Given the description of an element on the screen output the (x, y) to click on. 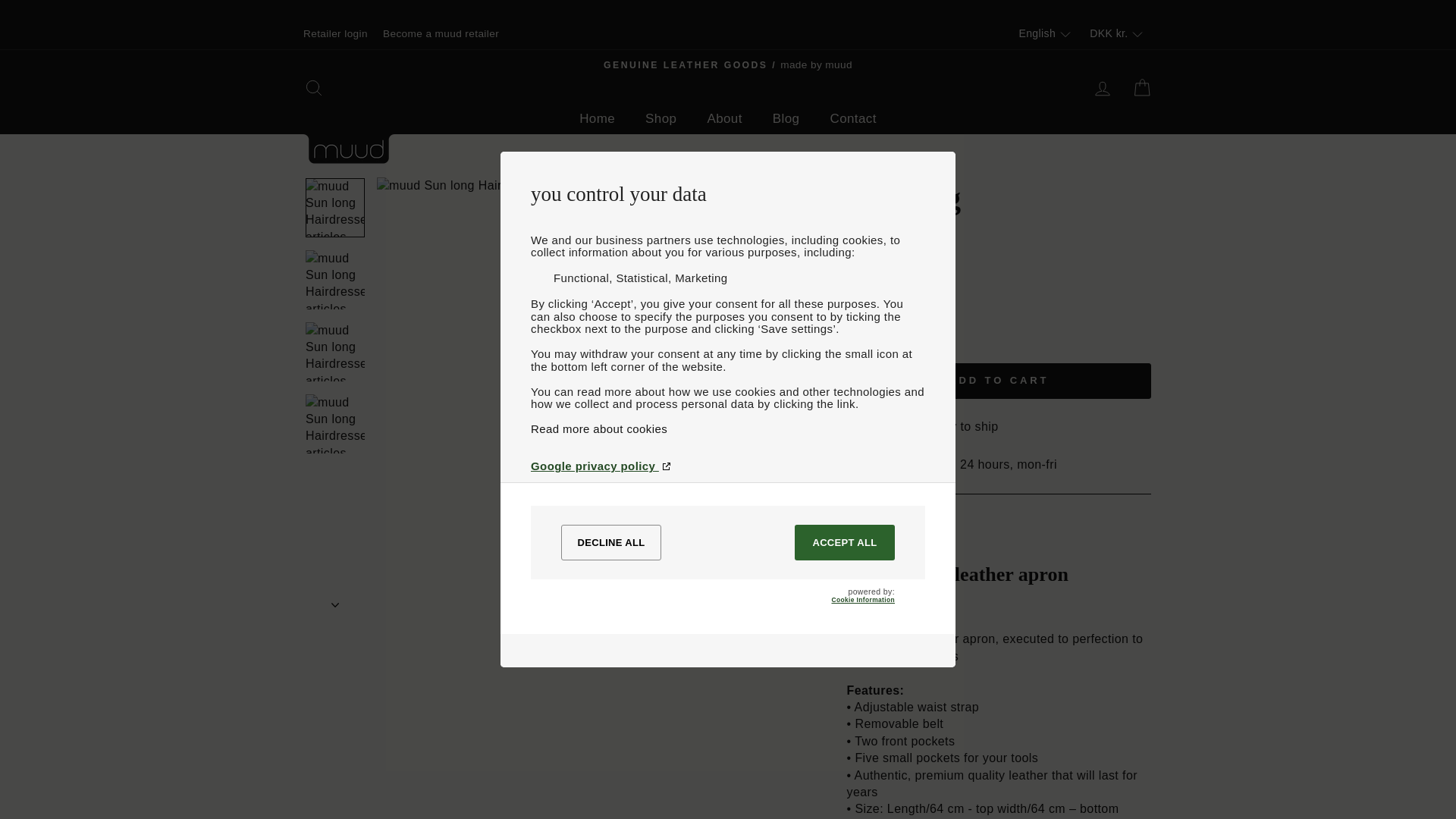
Google privacy policy (727, 465)
1 (871, 342)
Read more about cookies (727, 428)
